Given the description of an element on the screen output the (x, y) to click on. 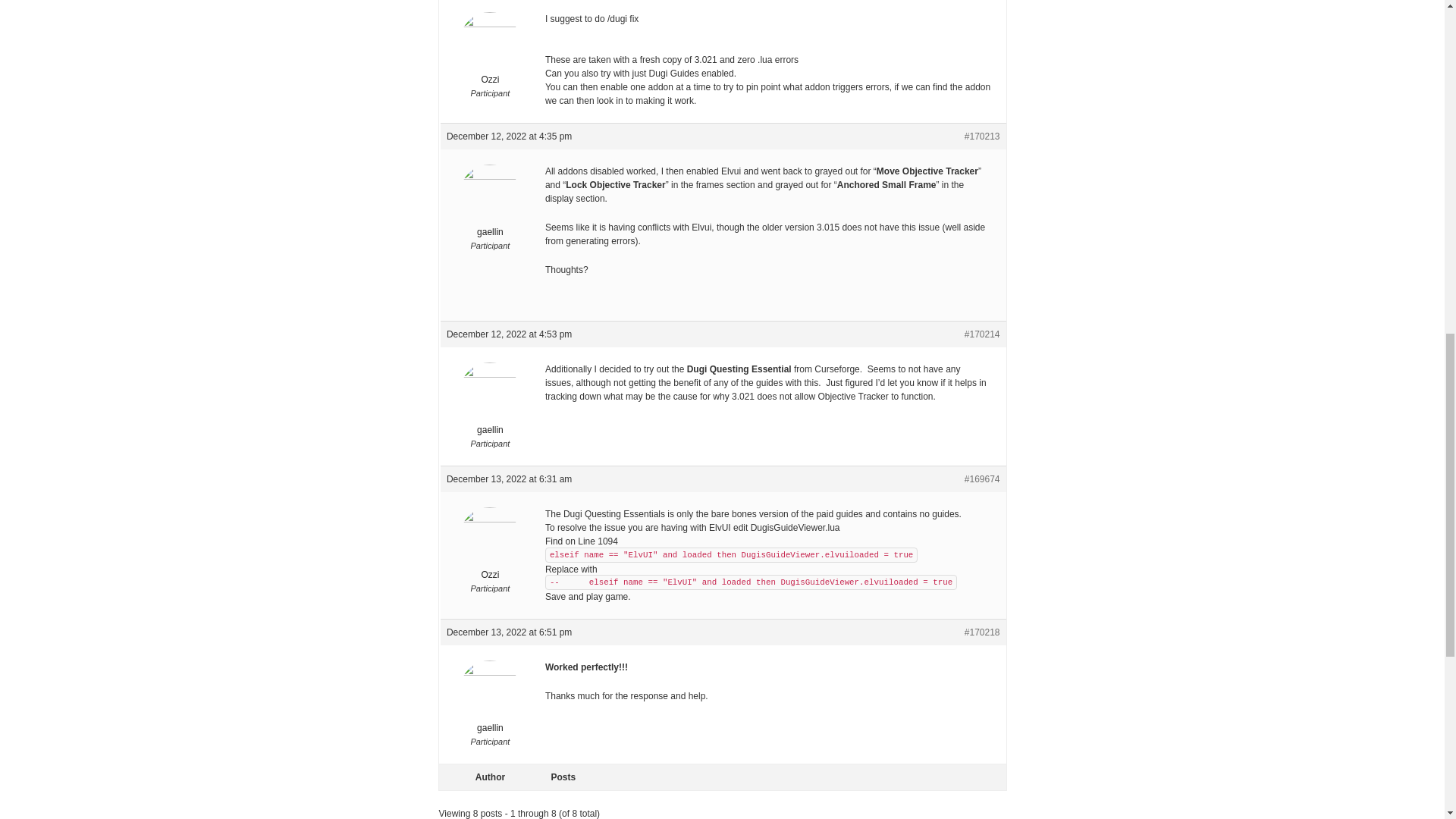
gaellin (490, 697)
View Ozzi's profile (490, 49)
View gaellin's profile (490, 201)
gaellin (490, 201)
View gaellin's profile (490, 399)
gaellin (490, 399)
Ozzi (490, 49)
Ozzi (490, 543)
